Given the description of an element on the screen output the (x, y) to click on. 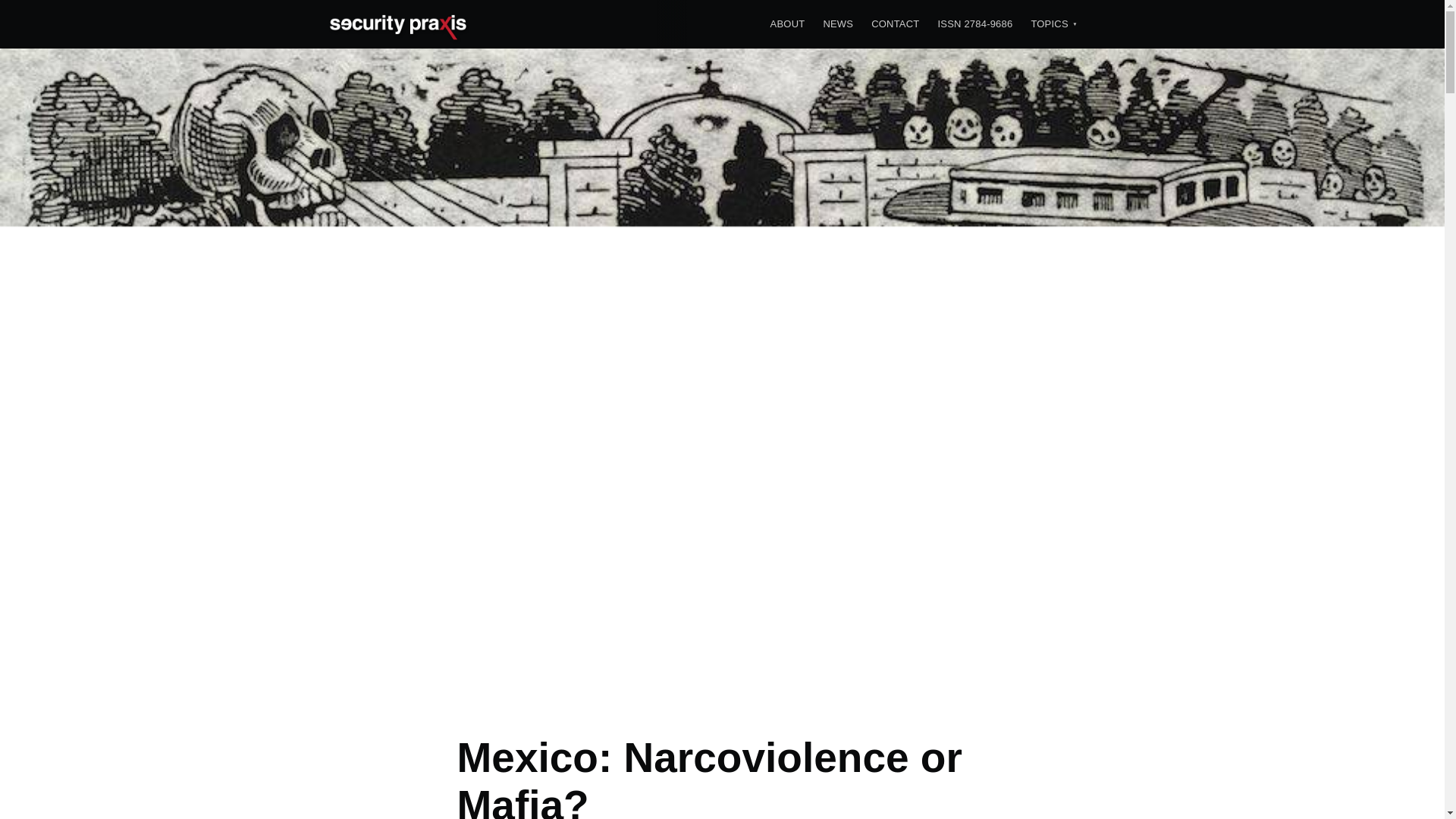
TOPICS (1049, 24)
ABOUT (787, 24)
ISSN 2784-9686 (975, 24)
NEWS (837, 24)
CONTACT (894, 24)
